Given the description of an element on the screen output the (x, y) to click on. 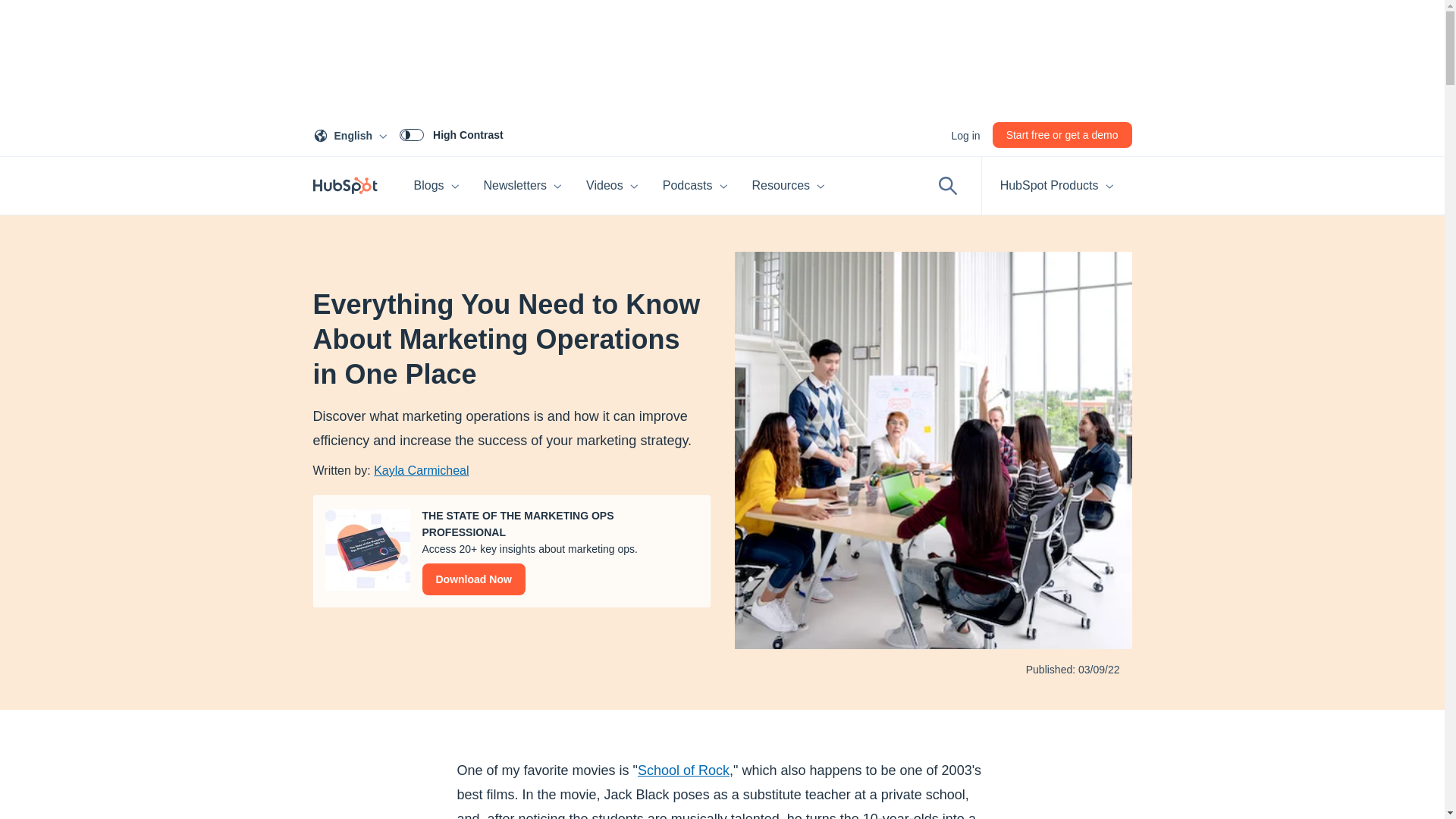
High Contrast (450, 134)
Blogs (436, 185)
Log in (964, 134)
Videos (611, 185)
Start free or get a demo (353, 134)
Newsletters (1062, 135)
